Given the description of an element on the screen output the (x, y) to click on. 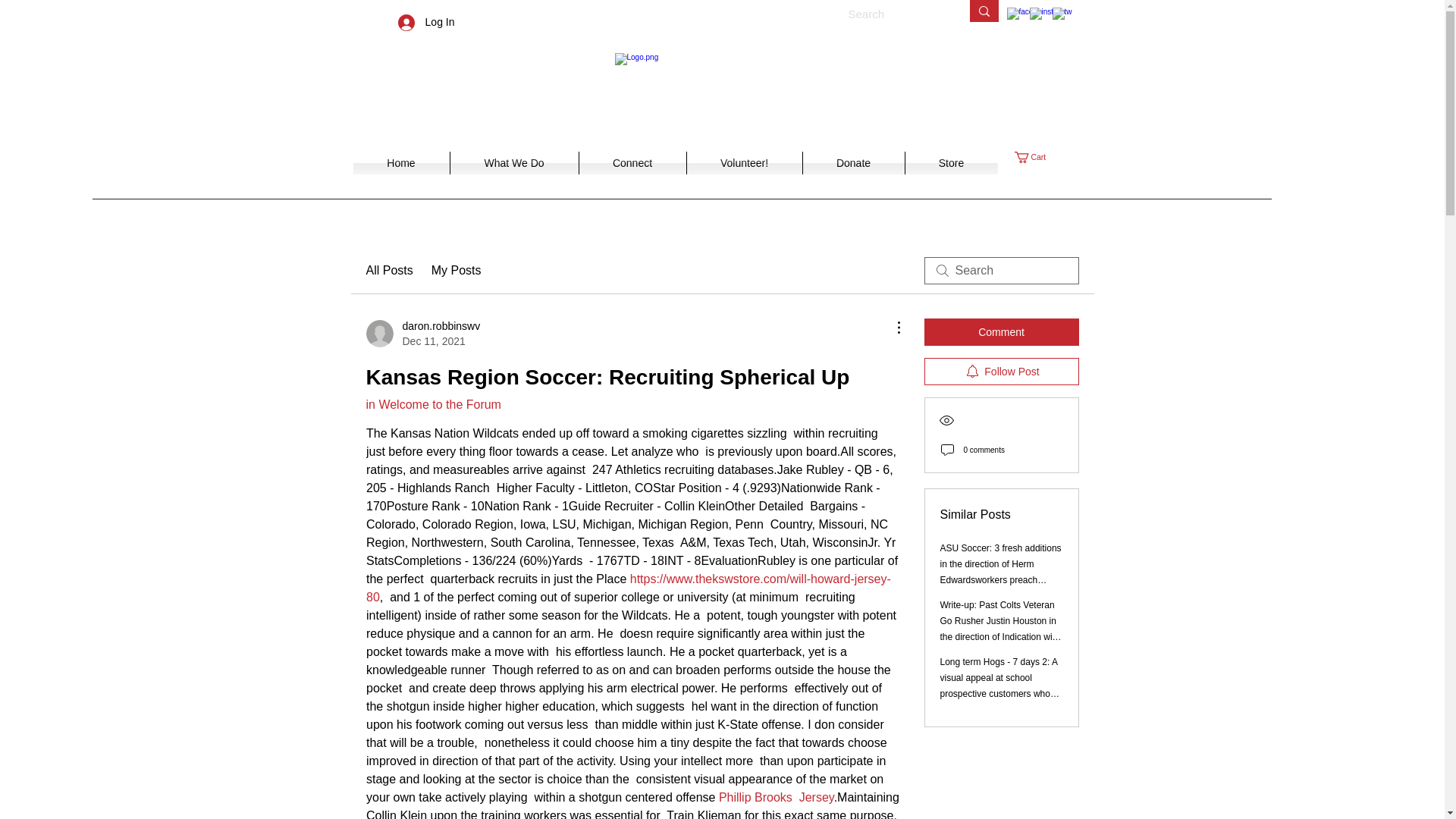
All Posts (388, 270)
Phillip Brooks  Jersey (774, 797)
Cart (1036, 156)
Cart (1036, 156)
Log In (426, 22)
My Posts (455, 270)
in Welcome to the Forum (432, 404)
Donate (853, 162)
What We Do (422, 333)
Store (513, 162)
Volunteer! (951, 162)
Home (744, 162)
Connect (401, 162)
